Given the description of an element on the screen output the (x, y) to click on. 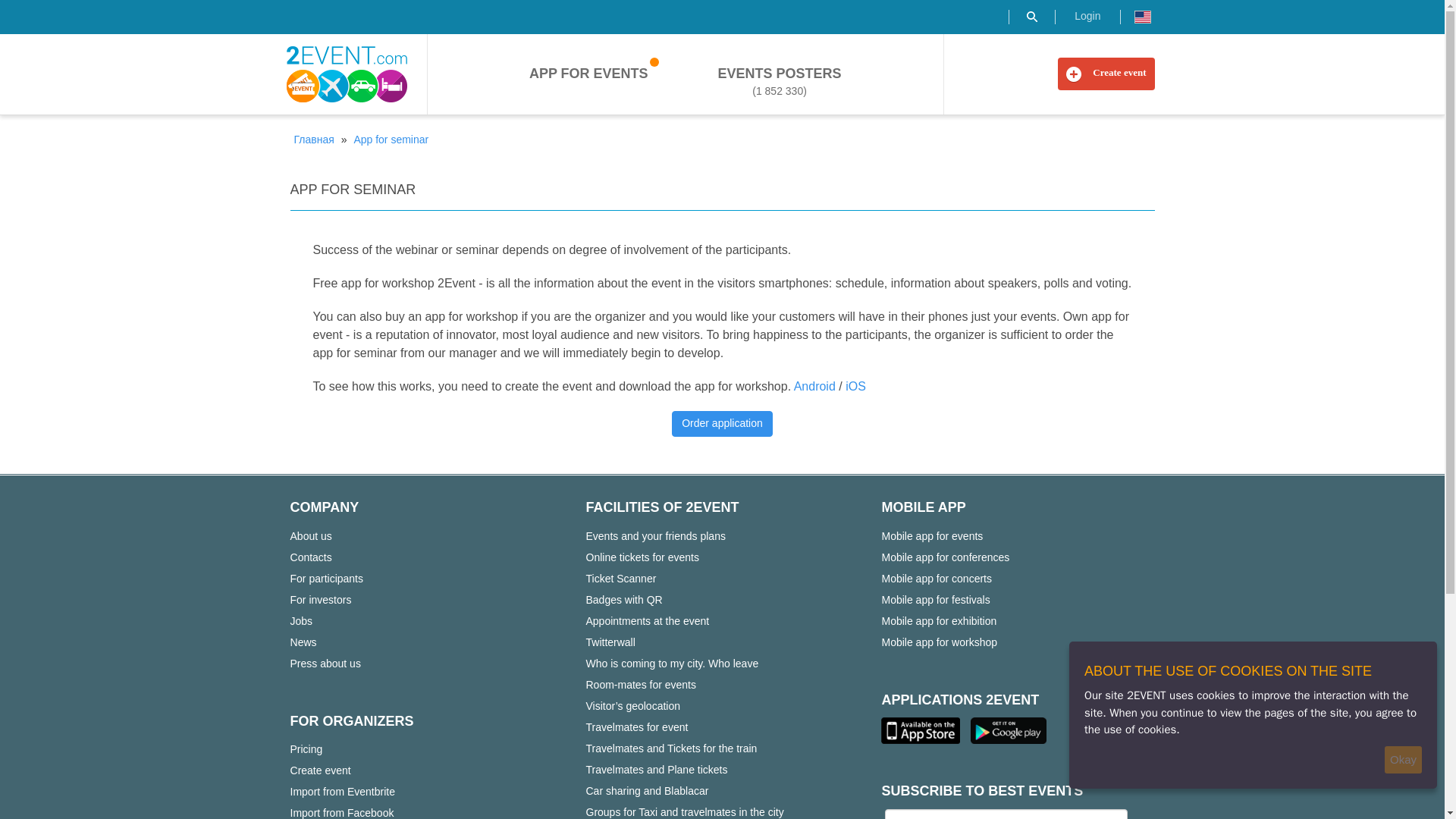
App for seminar (390, 139)
Search (1032, 16)
about us (310, 536)
Android (814, 386)
Jobs (301, 620)
APP FOR EVENTS (588, 73)
Create event (1106, 73)
Login (1087, 16)
Order application (722, 423)
contacts (310, 557)
COMPANY (323, 507)
For investors (319, 599)
press about us (324, 663)
News (302, 641)
iOS (855, 386)
